Given the description of an element on the screen output the (x, y) to click on. 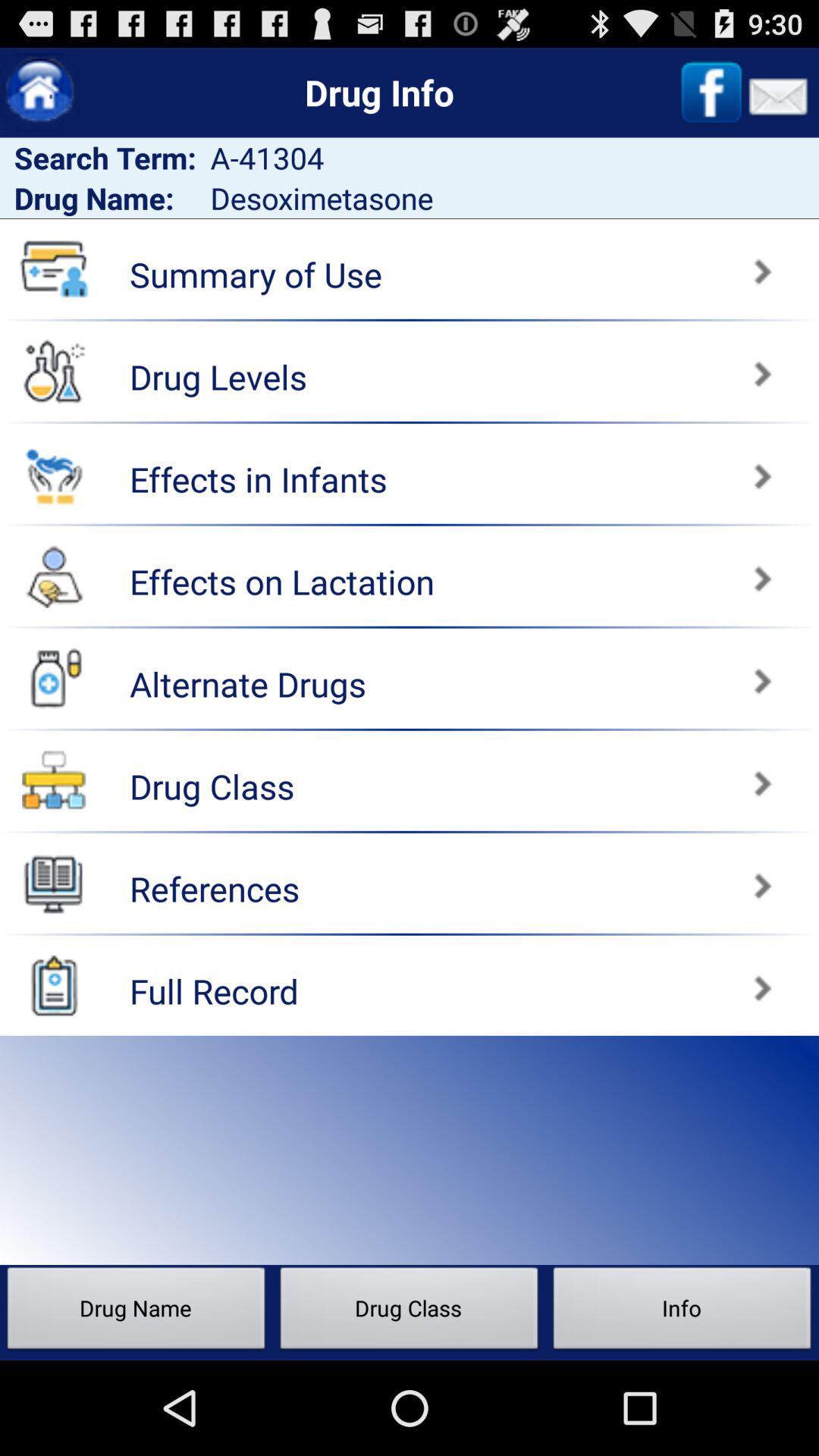
open references (53, 883)
